Given the description of an element on the screen output the (x, y) to click on. 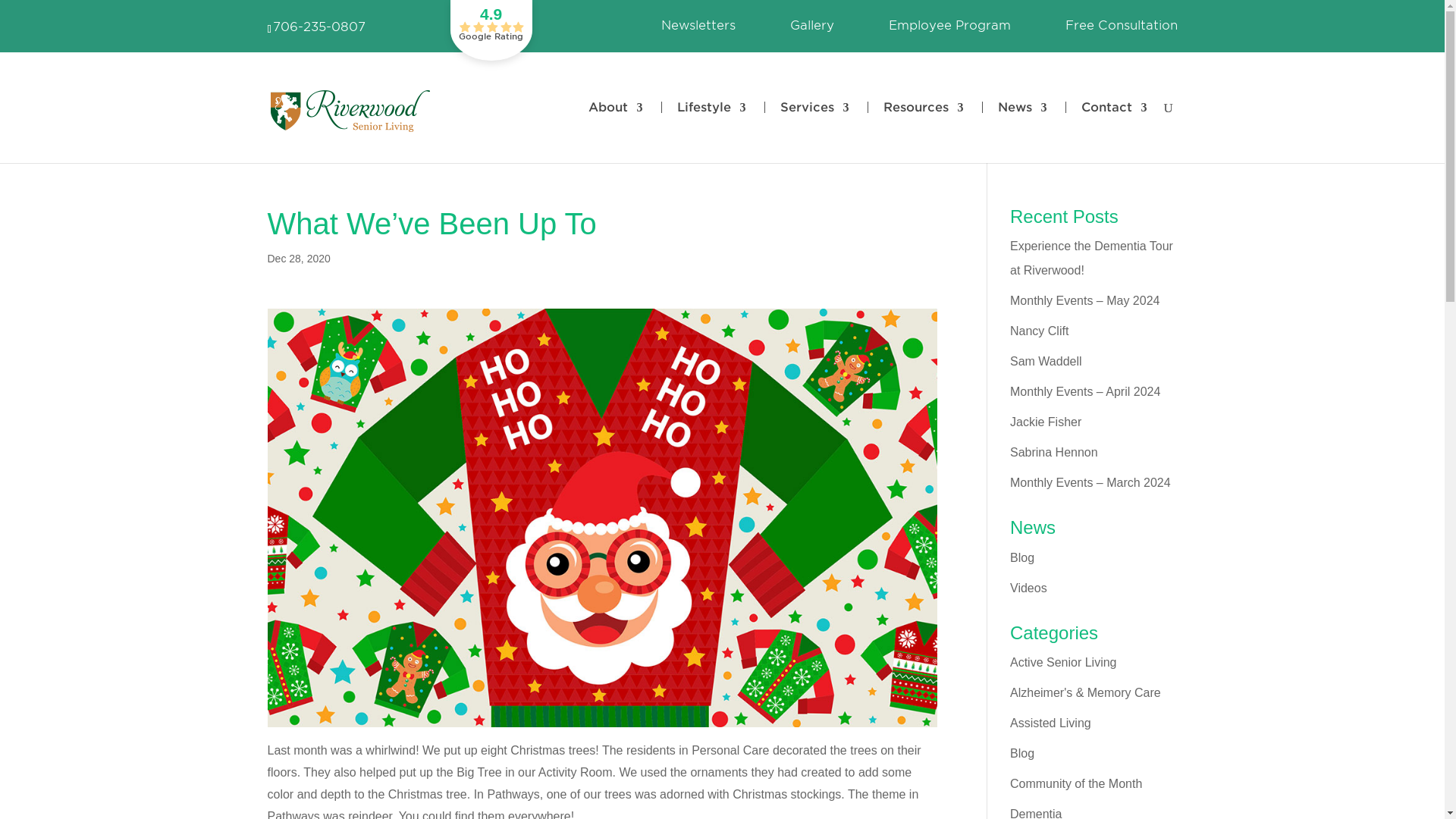
Services (798, 131)
Contact (1098, 131)
Resources (907, 131)
Free Consultation (1120, 30)
About (615, 131)
Gallery (812, 30)
706-235-0807 (319, 26)
Employee Program (949, 30)
Newsletters (698, 30)
News (1006, 131)
Lifestyle (695, 131)
